Given the description of an element on the screen output the (x, y) to click on. 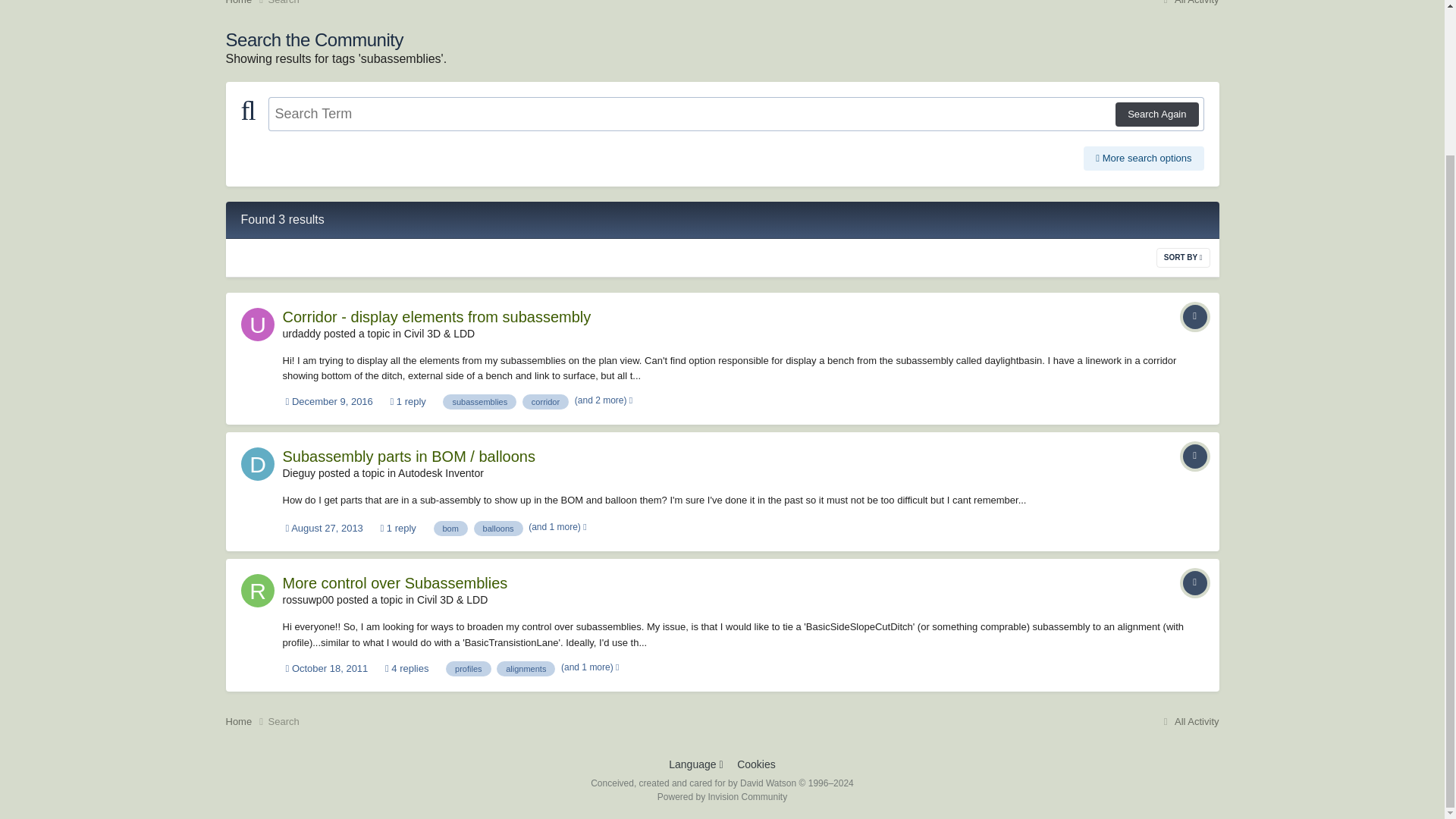
Home (246, 3)
Find other content tagged with 'profiles' (467, 668)
All Activity (1188, 2)
Topic (1194, 582)
Home (246, 3)
Find other content tagged with 'subassemblies' (479, 401)
Topic (1194, 456)
Search Again (1156, 114)
Find other content tagged with 'balloons' (498, 528)
Find other content tagged with 'bom' (450, 528)
More search options (1143, 158)
Find other content tagged with 'corridor' (545, 401)
Search (283, 2)
Topic (1194, 316)
